Given the description of an element on the screen output the (x, y) to click on. 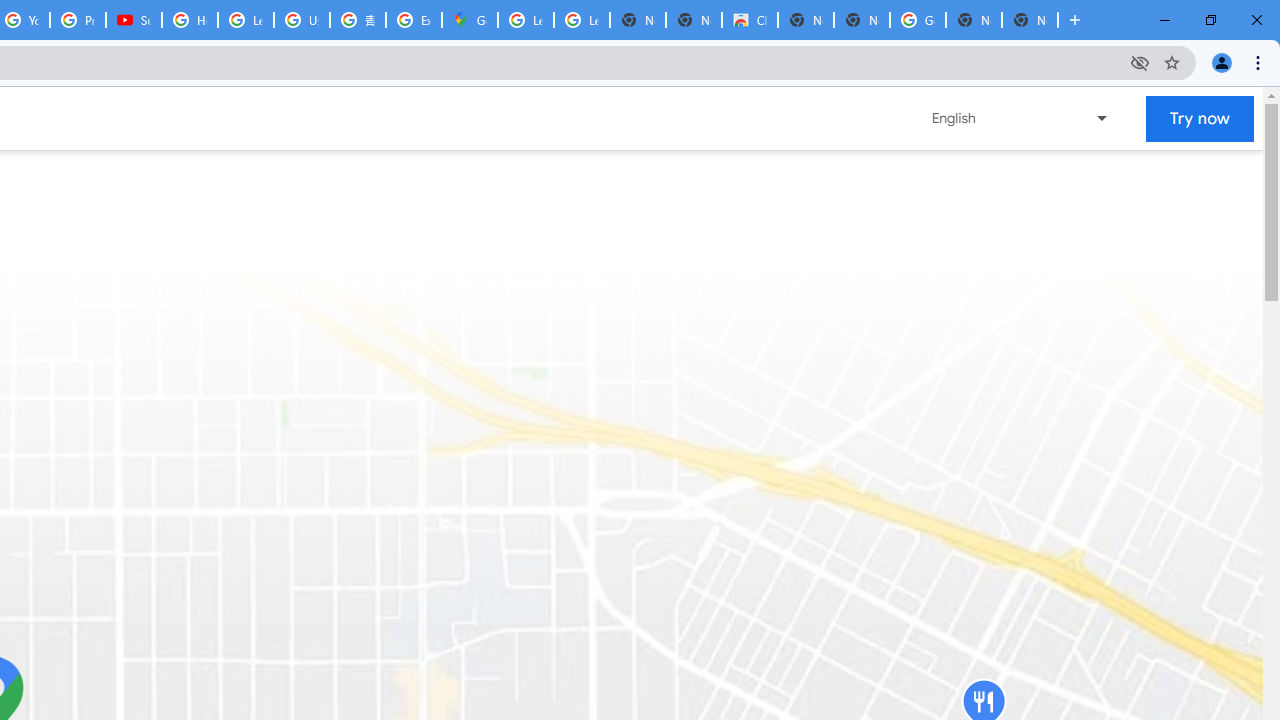
How Chrome protects your passwords - Google Chrome Help (189, 20)
Try now (1199, 118)
Explore new street-level details - Google Maps Help (413, 20)
New Tab (1030, 20)
Google Maps (469, 20)
